Given the description of an element on the screen output the (x, y) to click on. 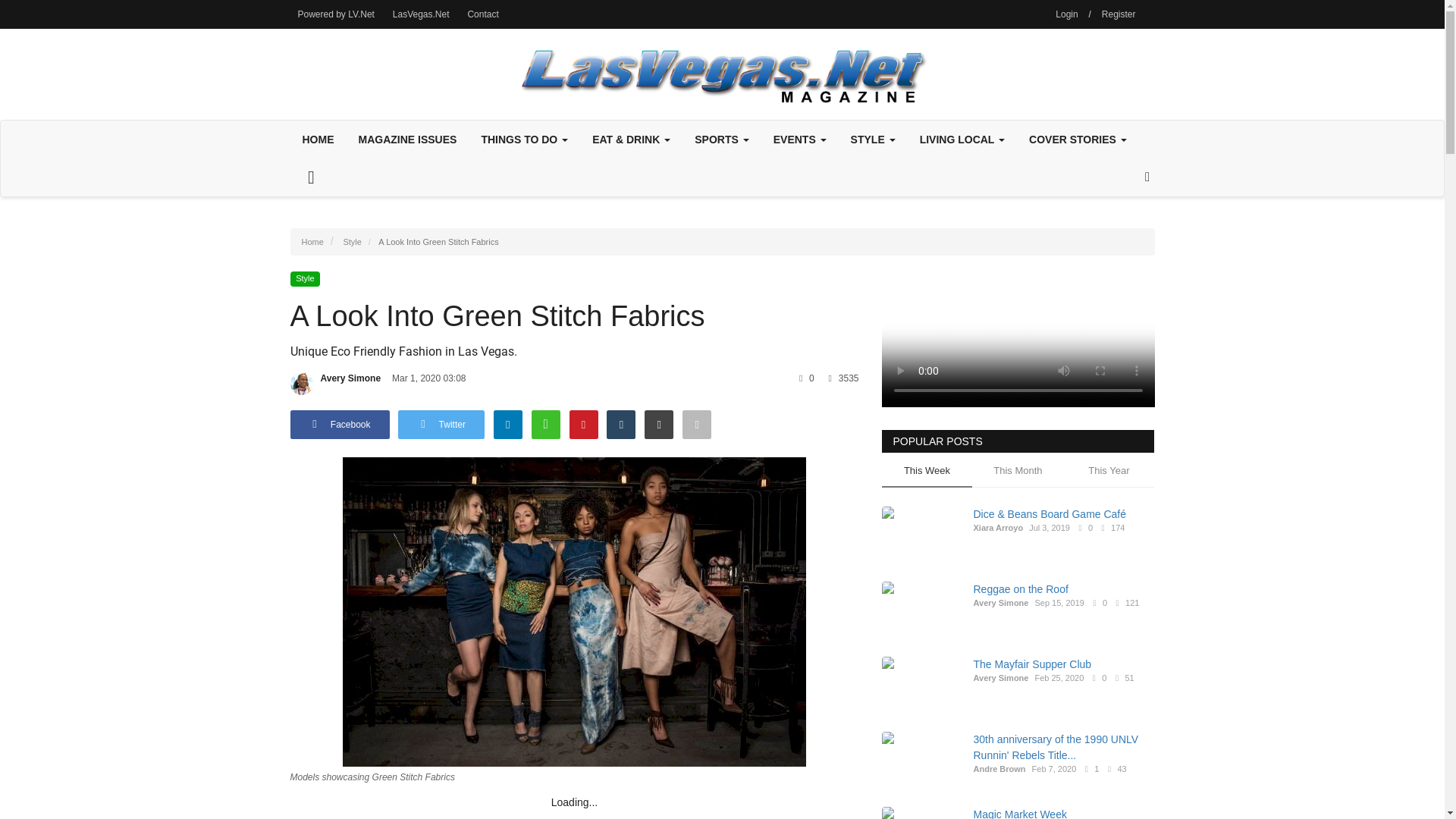
Login (1066, 14)
LasVegas.Net (421, 14)
Contact (482, 14)
MAGAZINE ISSUES (407, 139)
Register (1118, 14)
THINGS TO DO (523, 139)
HOME (317, 139)
Powered by LV.Net (335, 14)
